Given the description of an element on the screen output the (x, y) to click on. 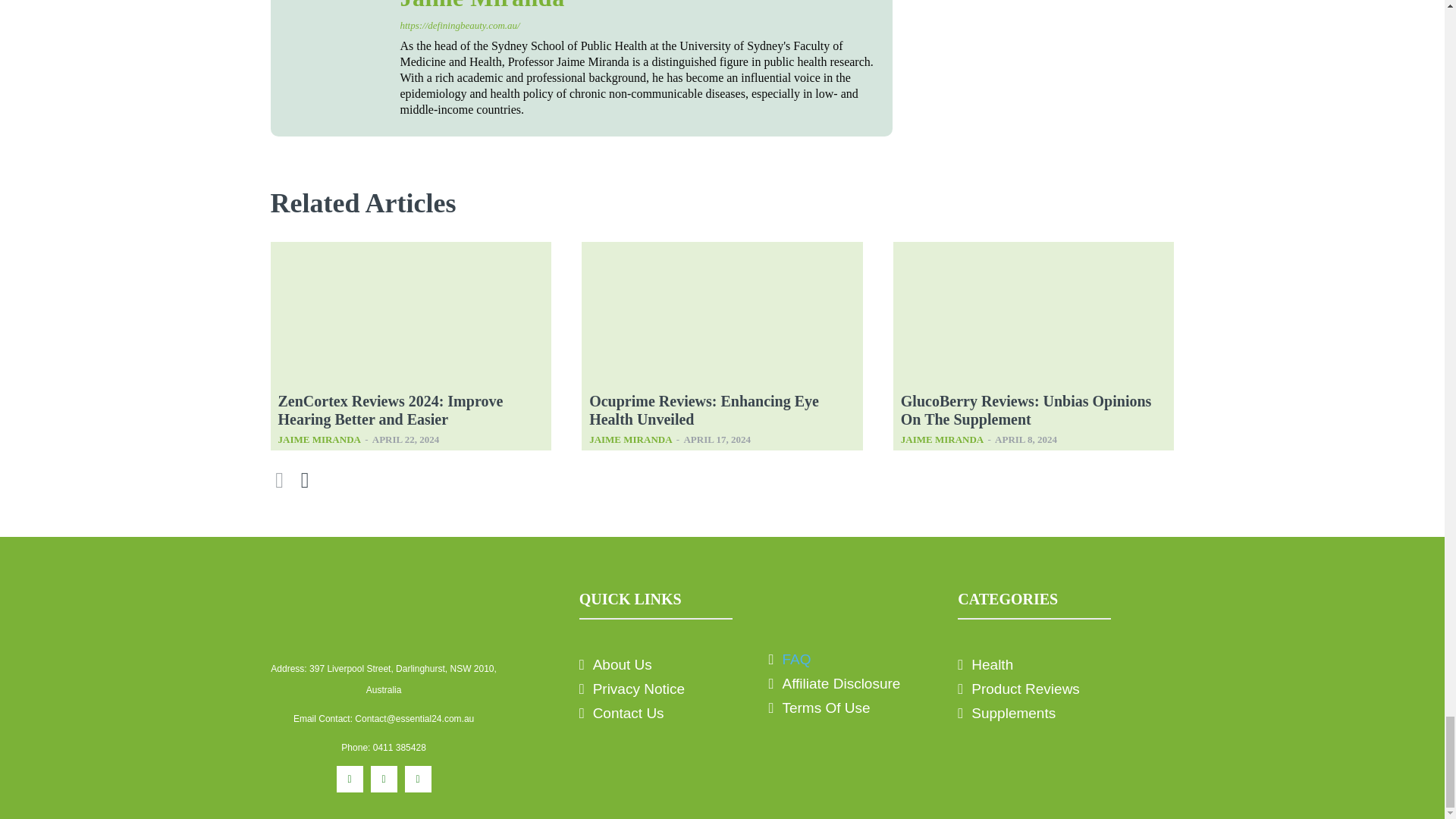
ZenCortex Reviews 2024: Improve Hearing Better and Easier (410, 315)
Ocuprime Reviews: Enhancing Eye Health Unveiled (703, 410)
Ocuprime Reviews: Enhancing Eye Health Unveiled (722, 315)
ZenCortex Reviews 2024: Improve Hearing Better and Easier (390, 410)
Jaime Miranda (638, 4)
